Given the description of an element on the screen output the (x, y) to click on. 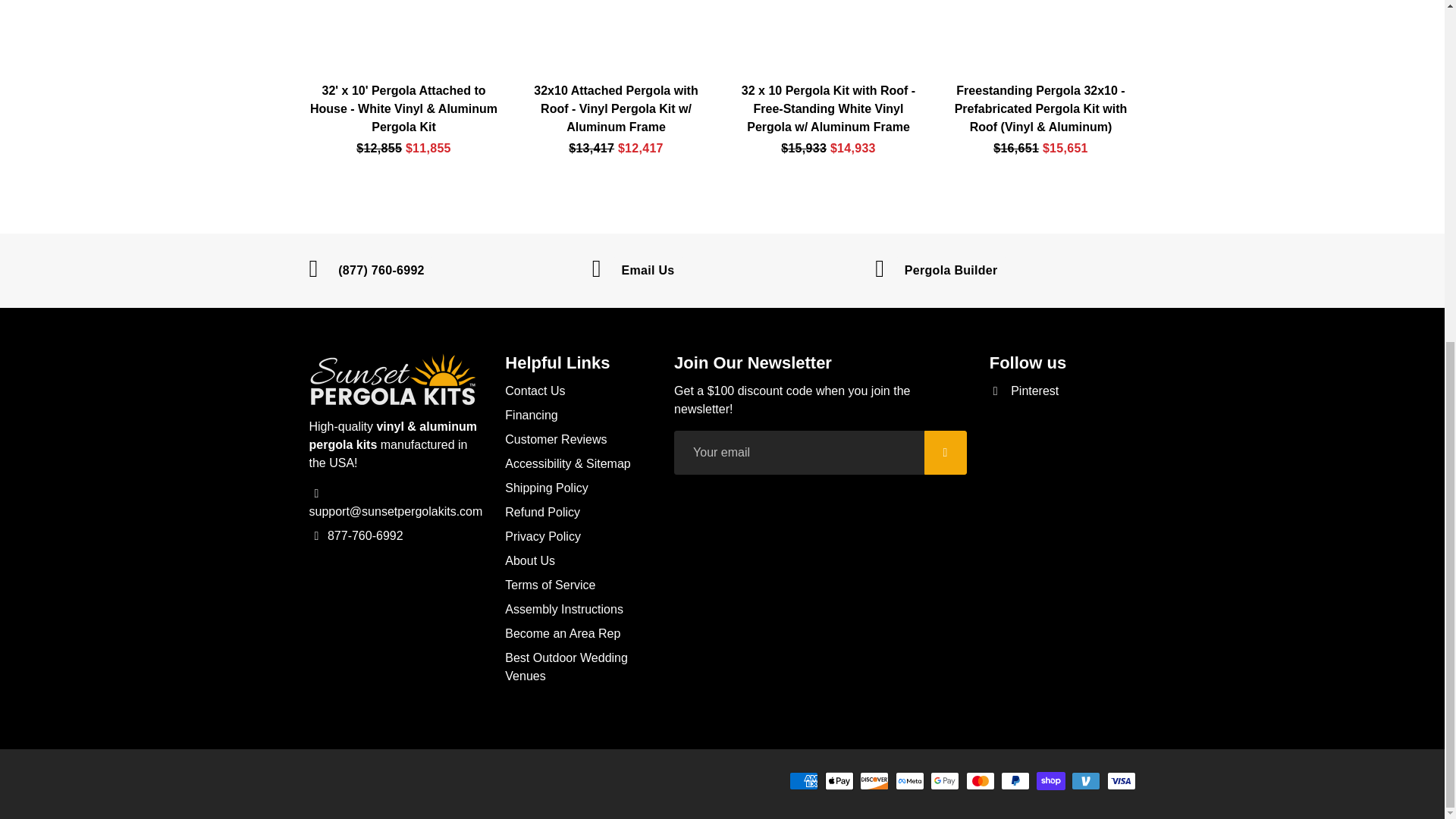
Sunset Pergola Kits on Pinterest (1024, 391)
Apple Pay (839, 781)
PayPal (1015, 781)
Google Pay (944, 781)
Mastercard (980, 781)
Discover (874, 781)
American Express (803, 781)
Shop Pay (1050, 781)
Meta Pay (909, 781)
Visa (1120, 781)
Venmo (1085, 781)
